Given the description of an element on the screen output the (x, y) to click on. 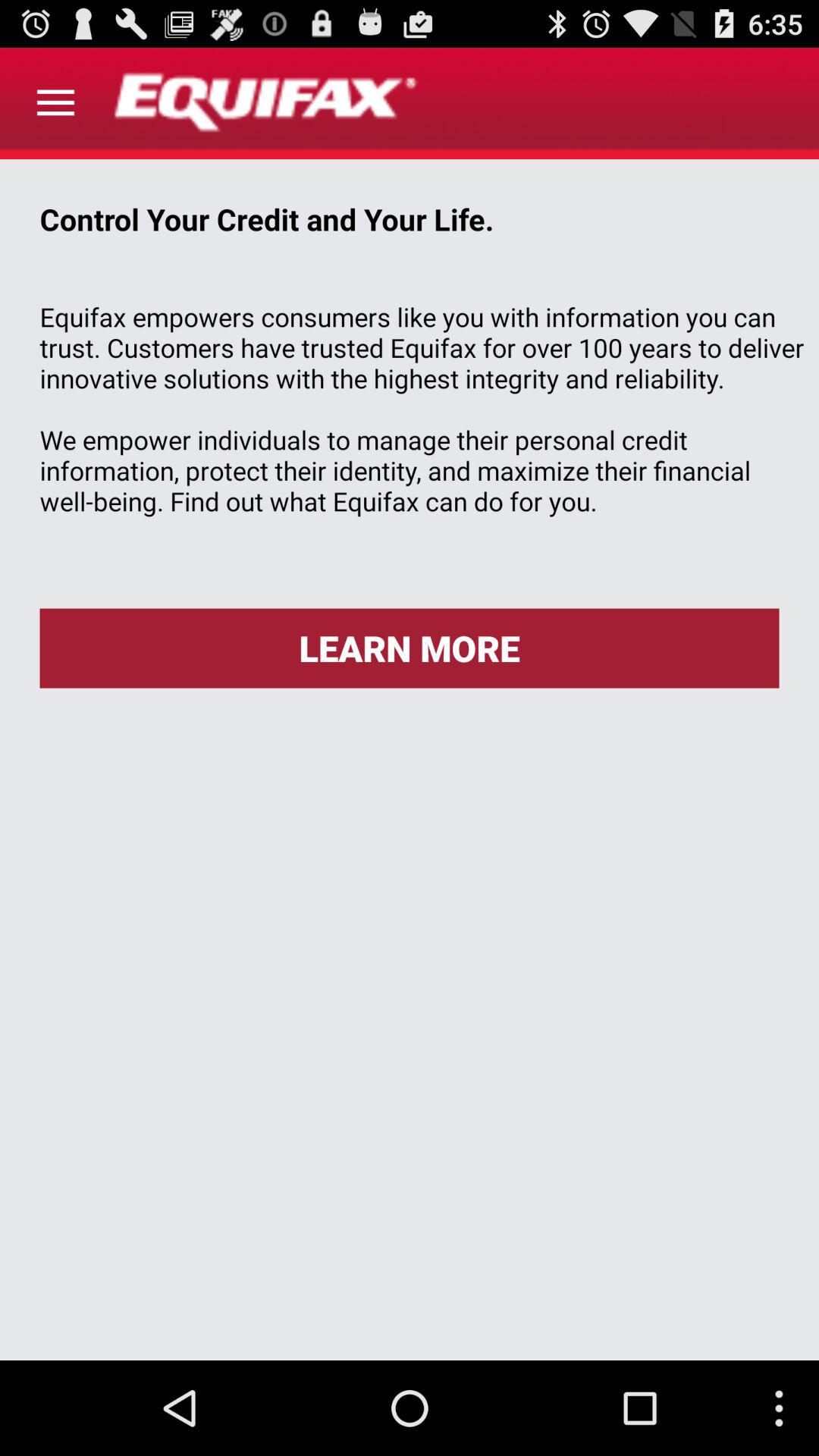
launch the icon below equifax empowers consumers (409, 648)
